Given the description of an element on the screen output the (x, y) to click on. 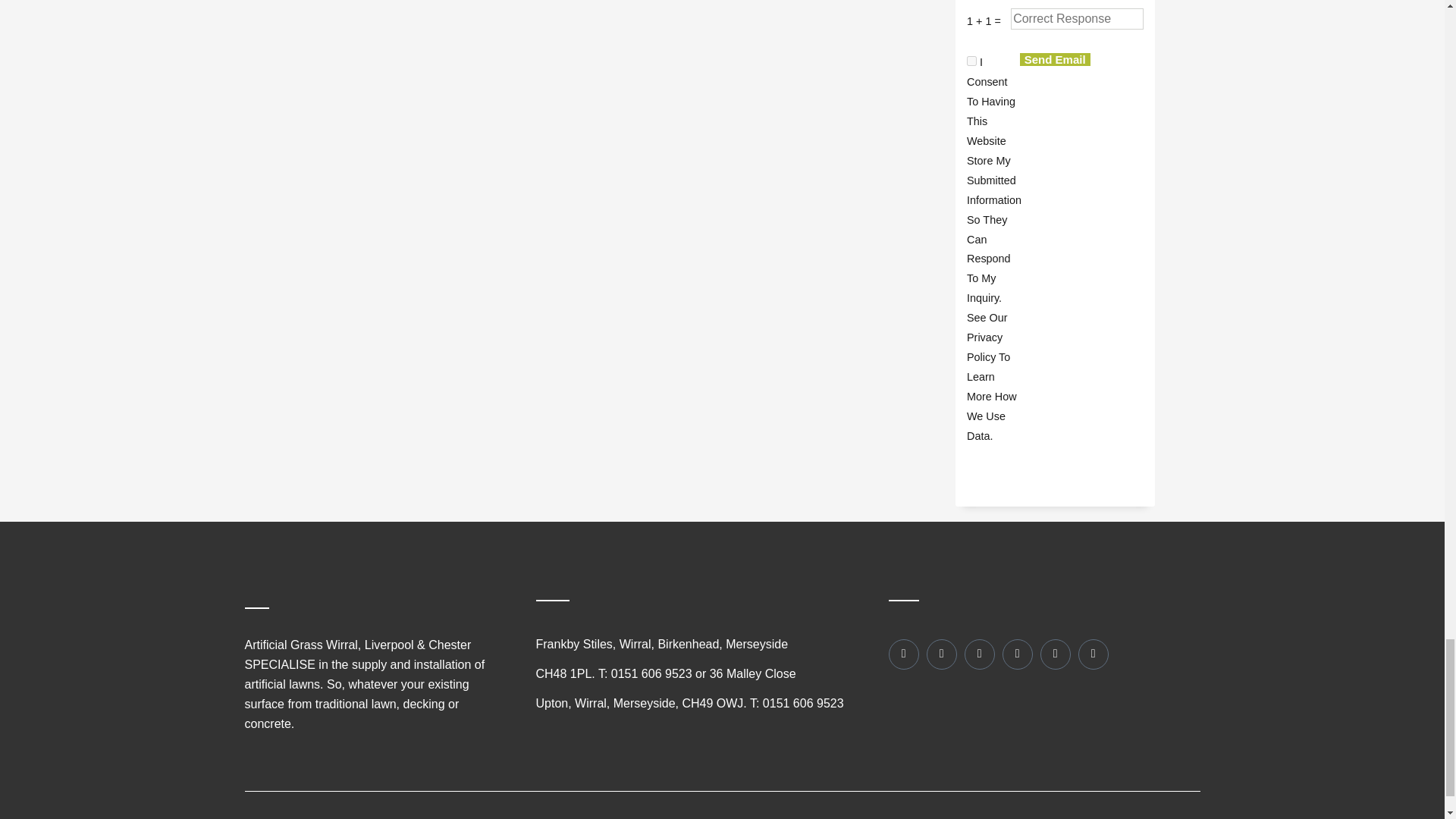
Send email (1055, 59)
on (971, 61)
